Given the description of an element on the screen output the (x, y) to click on. 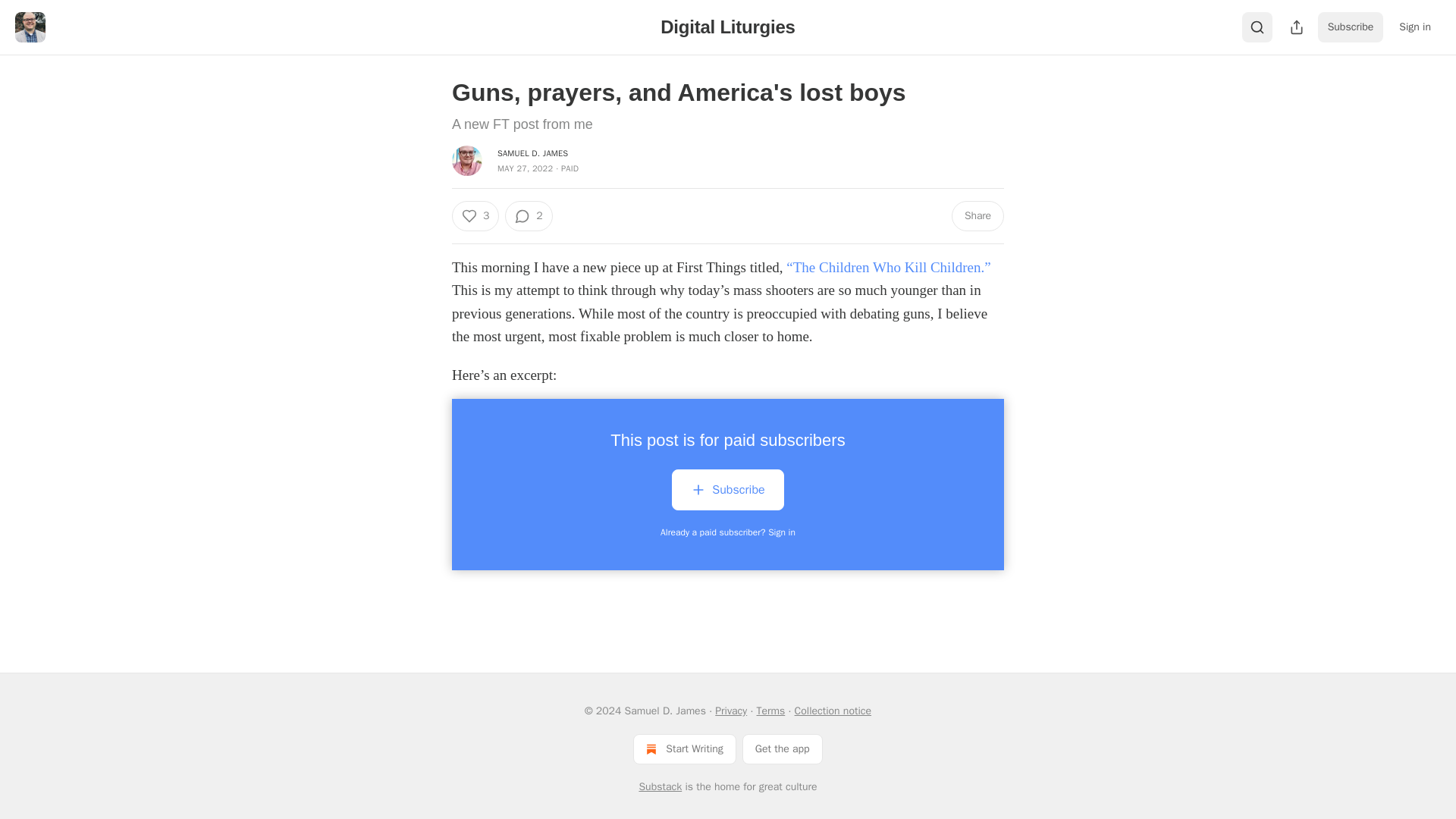
3 (475, 215)
Already a paid subscriber? Sign in (727, 532)
Get the app (782, 748)
Share (978, 215)
Start Writing (684, 748)
Privacy (730, 710)
Subscribe (1350, 27)
Digital Liturgies (727, 26)
Sign in (1415, 27)
Subscribe (727, 489)
Terms (771, 710)
Collection notice (832, 710)
Subscribe (727, 493)
2 (528, 215)
Substack (660, 786)
